Given the description of an element on the screen output the (x, y) to click on. 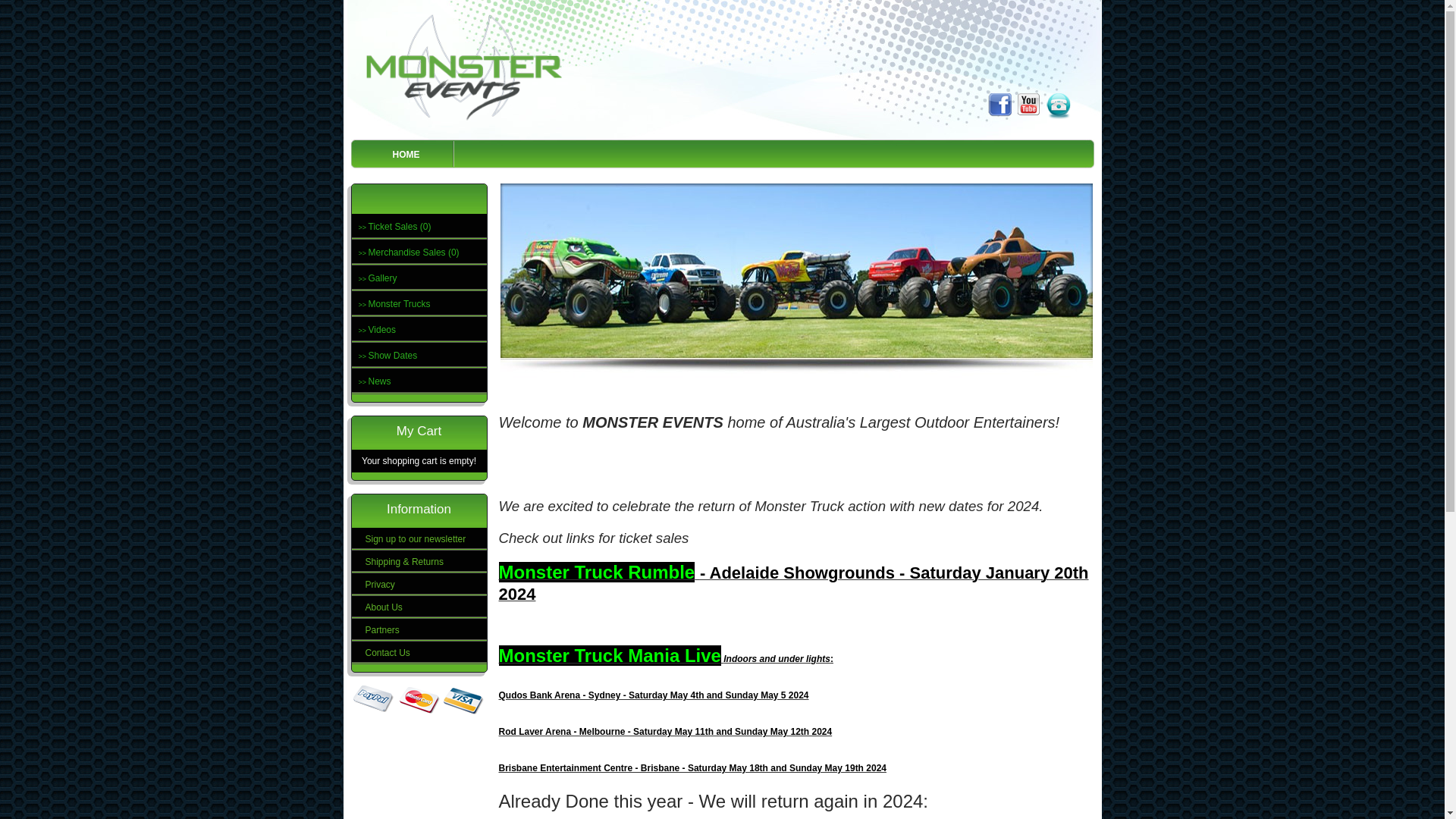
Shipping & Returns Element type: text (418, 561)
Indoors and under lights: Element type: text (777, 658)
Privacy Element type: text (418, 584)
homeBanner Element type: hover (796, 282)
>> Ticket Sales (0) Element type: text (418, 226)
>> Monster Trucks Element type: text (418, 303)
>> Videos Element type: text (418, 329)
>> News Element type: text (418, 381)
Sign up to our newsletter Element type: text (418, 538)
HOME Element type: text (405, 153)
>> Gallery Element type: text (418, 278)
Partners Element type: text (418, 629)
Contact Us Element type: text (418, 652)
Monster Truck Mania Live Element type: text (609, 658)
About Us Element type: text (418, 607)
>> Merchandise Sales (0) Element type: text (418, 252)
>> Show Dates Element type: text (418, 355)
Monster Events Element type: hover (465, 64)
